Given the description of an element on the screen output the (x, y) to click on. 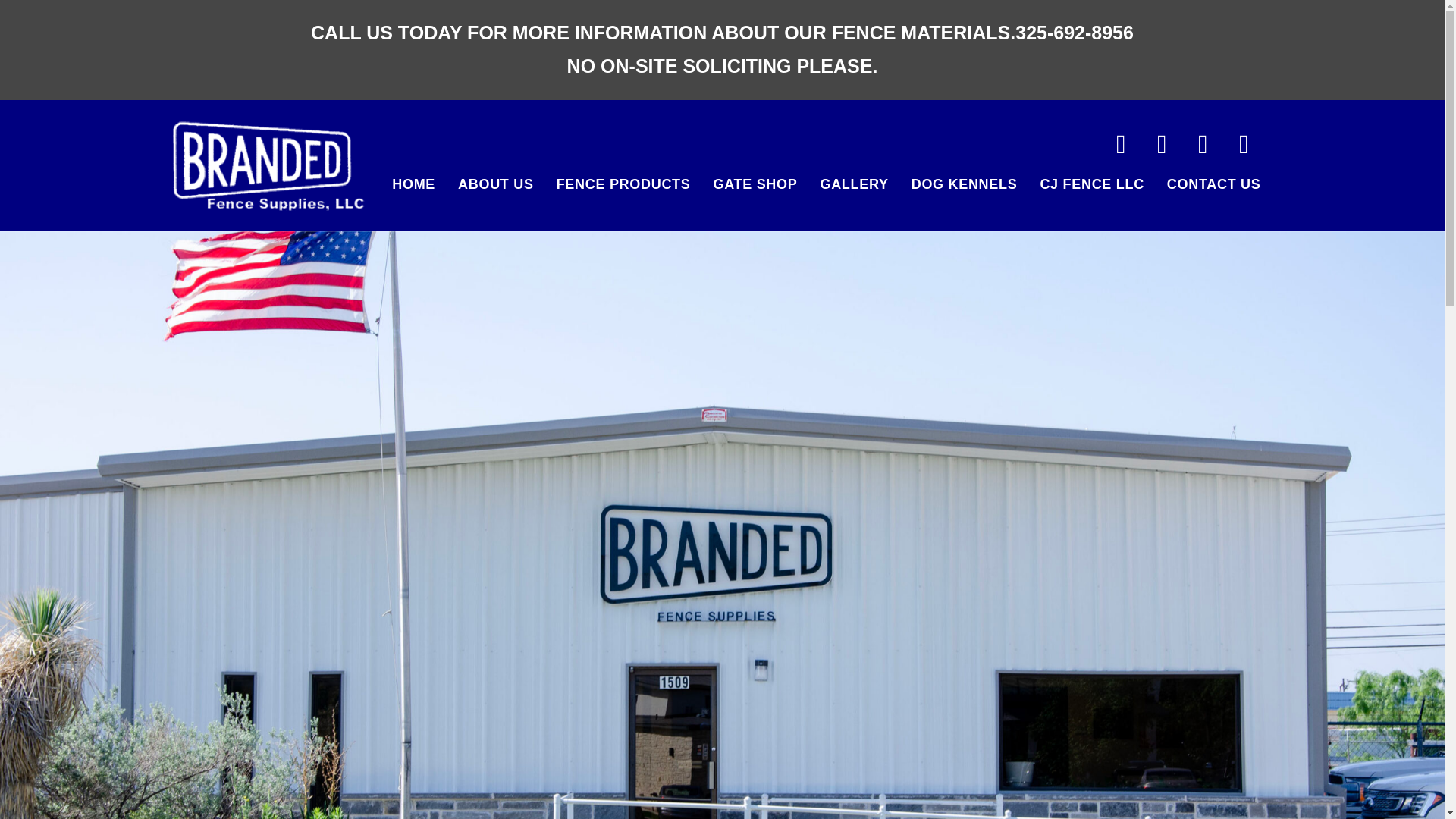
CJ FENCE LLC (1090, 184)
FENCE PRODUCTS (622, 184)
ABOUT US (495, 184)
DOG KENNELS (964, 184)
Branded Fence Supplies, LLC (269, 164)
CONTACT US (1214, 184)
GALLERY (853, 184)
325-692-8956 (1074, 32)
GATE SHOP (754, 184)
HOME (413, 184)
